Given the description of an element on the screen output the (x, y) to click on. 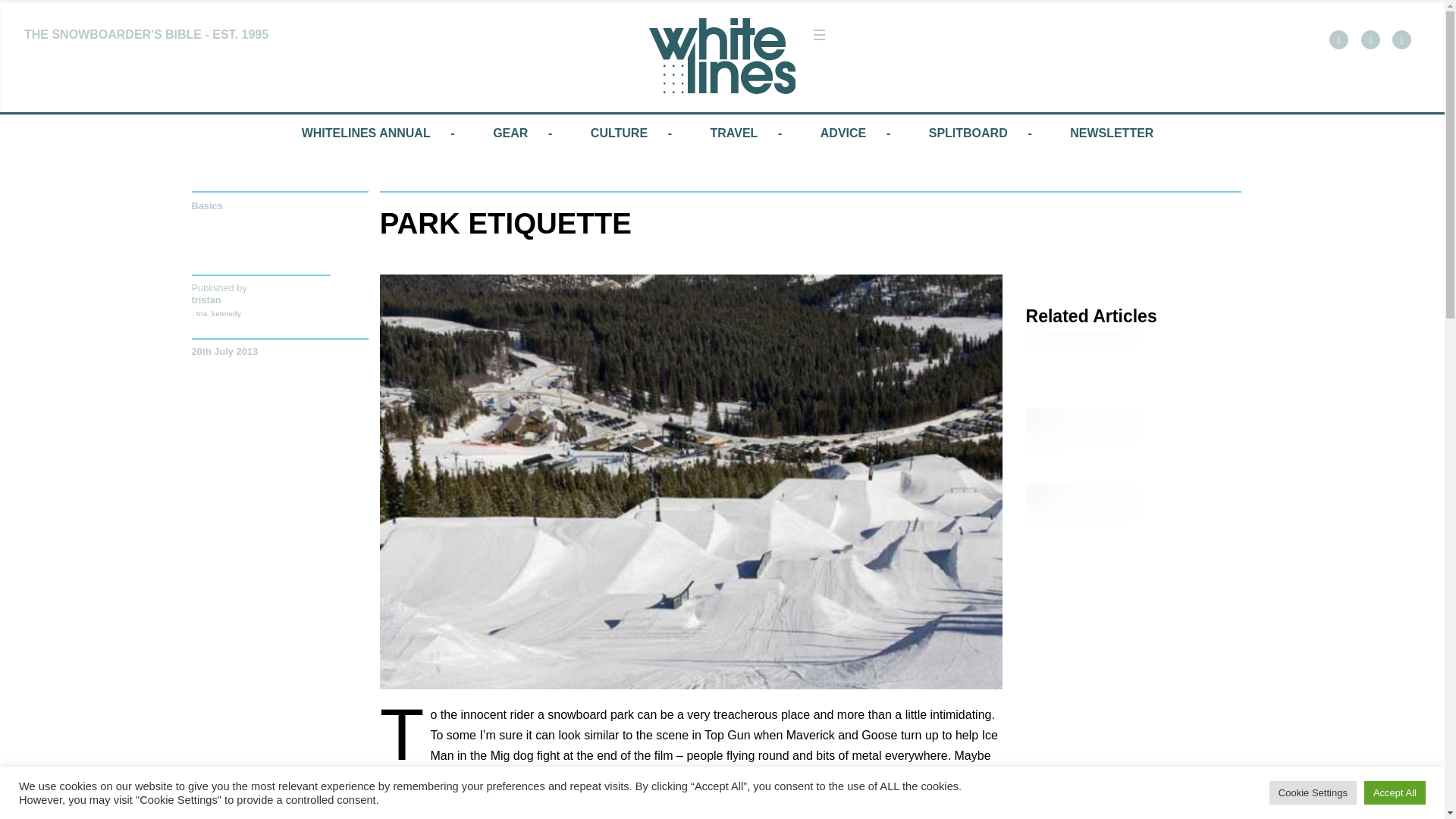
GEAR (510, 132)
logo (722, 56)
ADVICE (843, 132)
SPLITBOARD (967, 132)
TRAVEL (734, 132)
NEWSLETTER (1111, 132)
Find us on Instagram (1400, 39)
WHITELINES ANNUAL (365, 132)
Find us on Facebook (1338, 39)
Menu (818, 34)
